Given the description of an element on the screen output the (x, y) to click on. 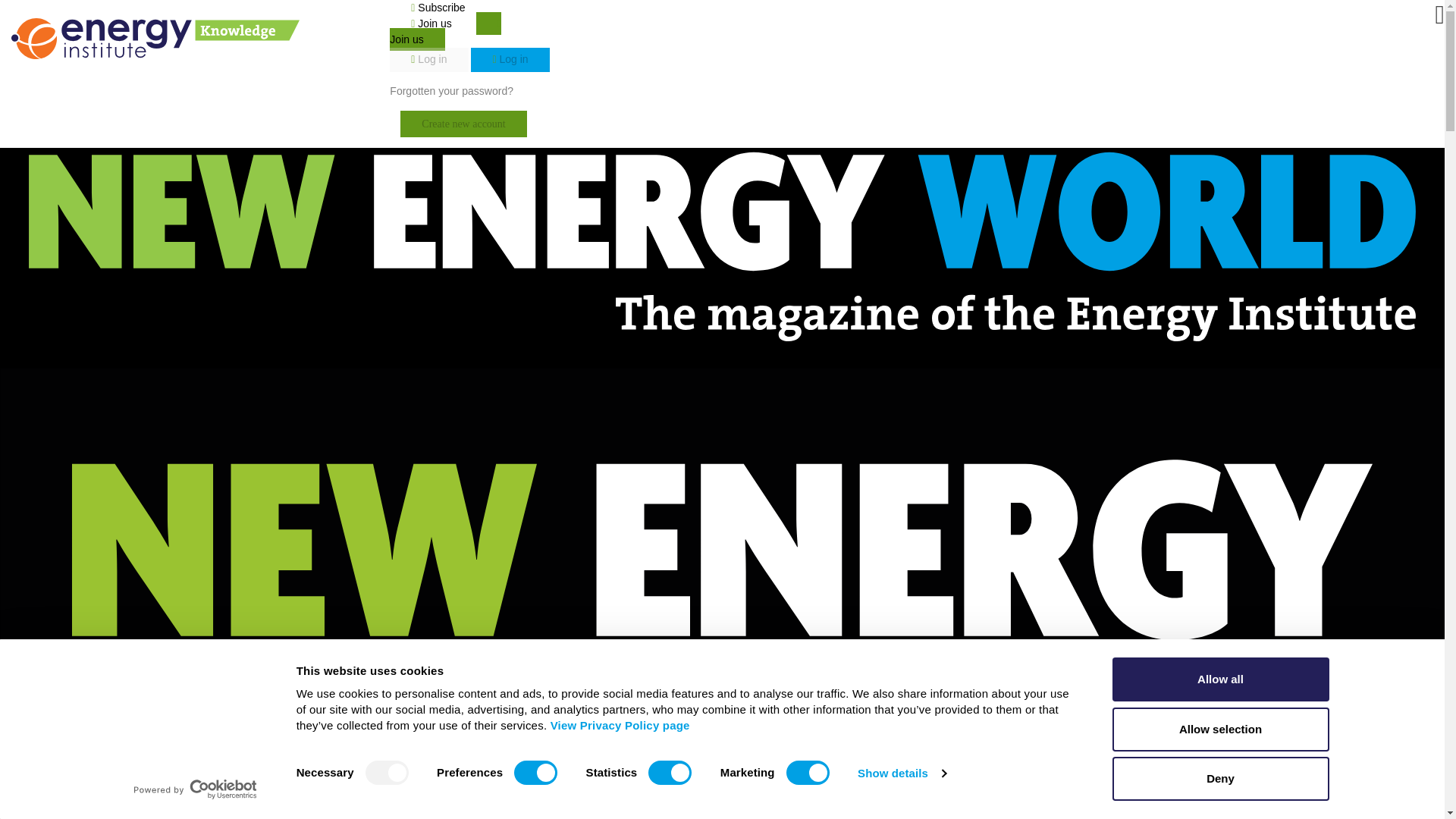
Enter your search query here (678, 96)
Submit (967, 96)
undefined (967, 96)
View Privacy Policy page (620, 725)
View Privacy Policy page (620, 725)
undefined (967, 96)
Show details (900, 773)
